Given the description of an element on the screen output the (x, y) to click on. 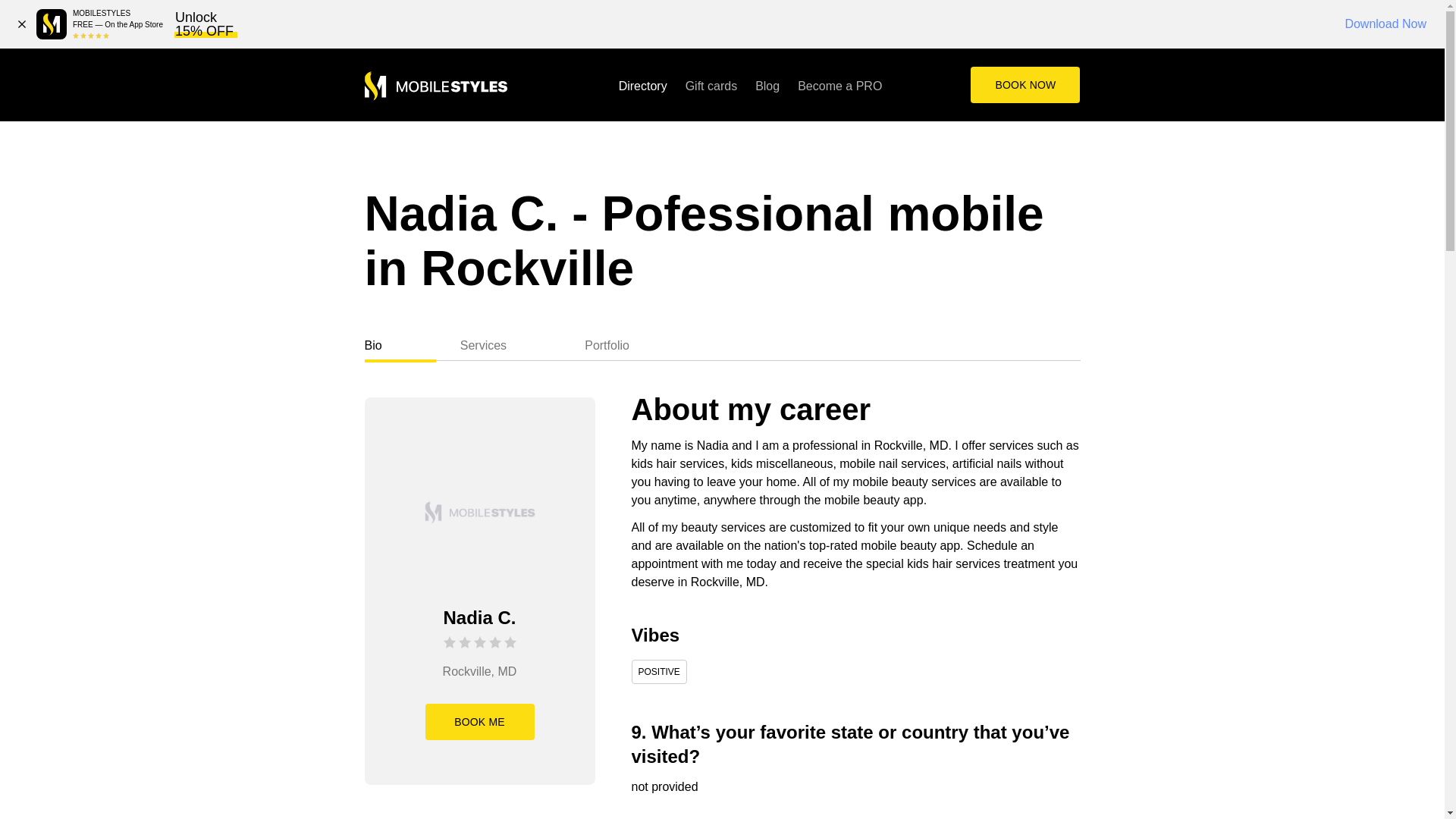
Go Home (435, 86)
BOOK NOW (1025, 84)
Download MOBILESTYLES APP Now (51, 24)
Rating stars (479, 643)
Become a PRO (839, 84)
Apply to be a mobile cosmetologist (839, 84)
PRO Portfolio (633, 342)
Services (510, 342)
Book a mobile service (1025, 84)
Purchase a gift card (710, 84)
Gift cards (710, 84)
Read our blogs (766, 84)
BOOK ME (479, 721)
Portfolio (633, 342)
Download MOBILESTYLES APP Now (1384, 24)
